Given the description of an element on the screen output the (x, y) to click on. 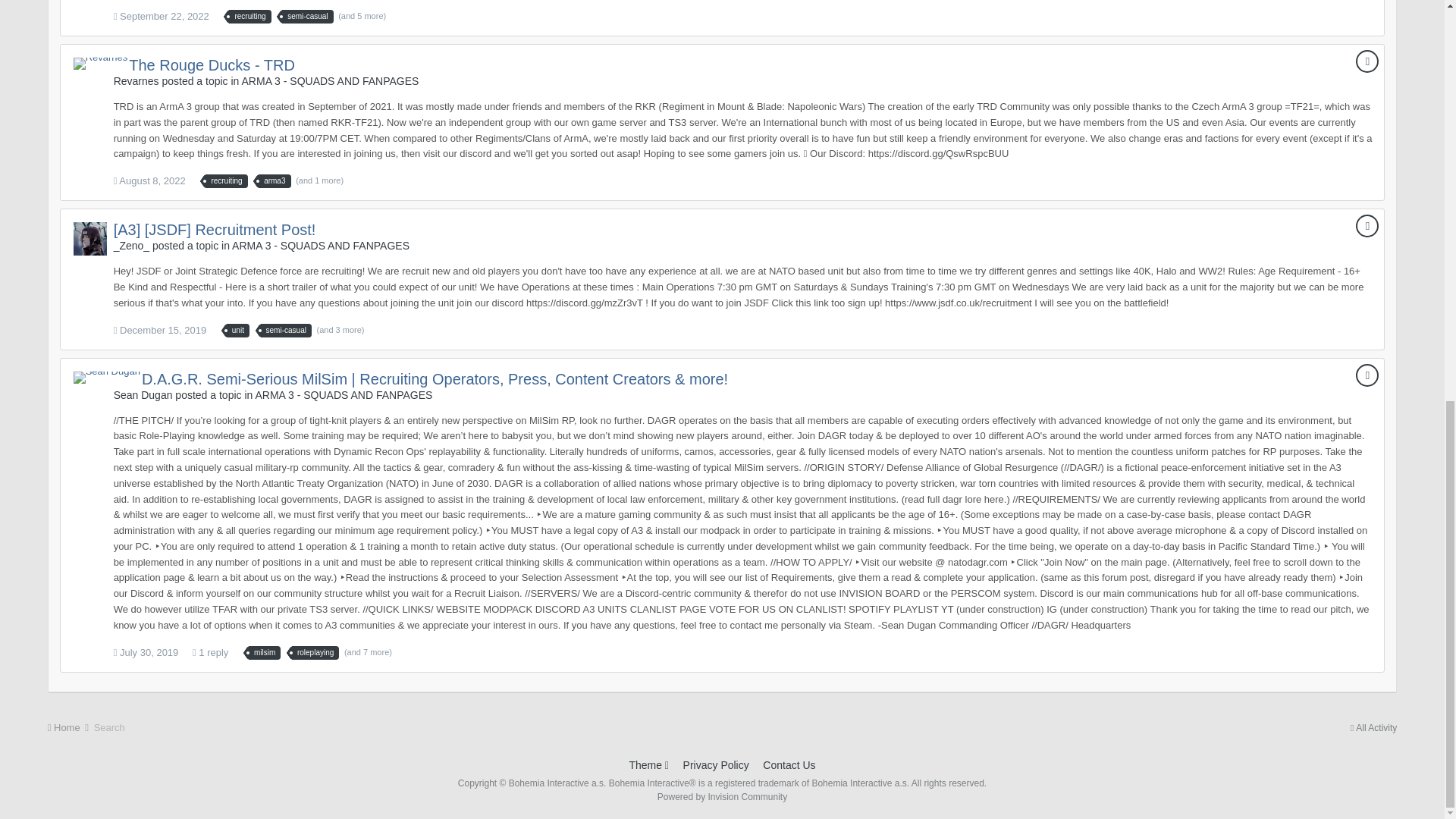
Go to Revarnes's profile (101, 63)
Topic (1366, 60)
Find other content tagged with 'recruiting' (226, 181)
Find other content tagged with 'semi-casual' (307, 16)
Find other content tagged with 'recruiting' (249, 16)
